Given the description of an element on the screen output the (x, y) to click on. 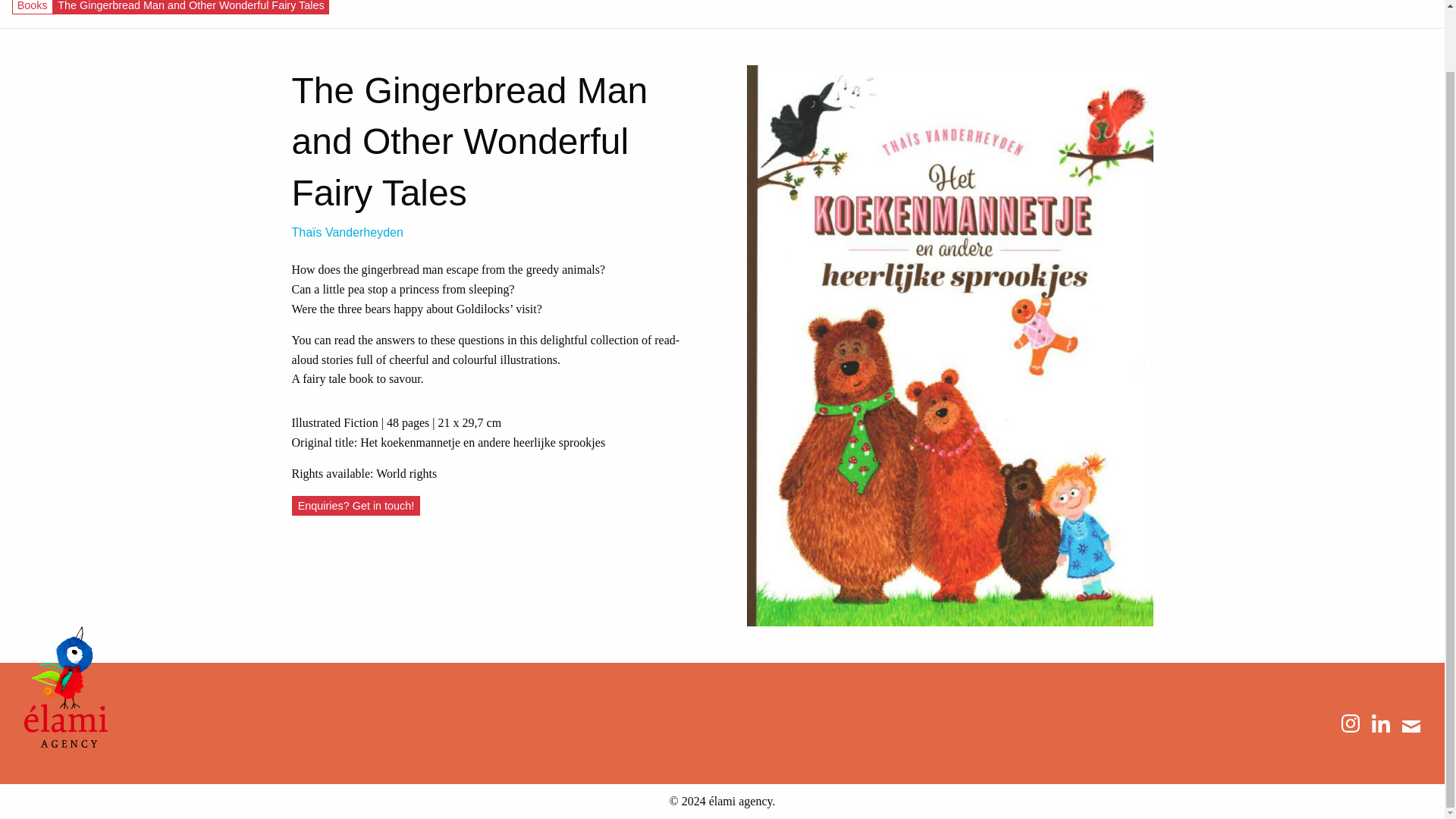
World rights (405, 472)
Books (32, 5)
Enquiries? Get in touch! (355, 505)
